Given the description of an element on the screen output the (x, y) to click on. 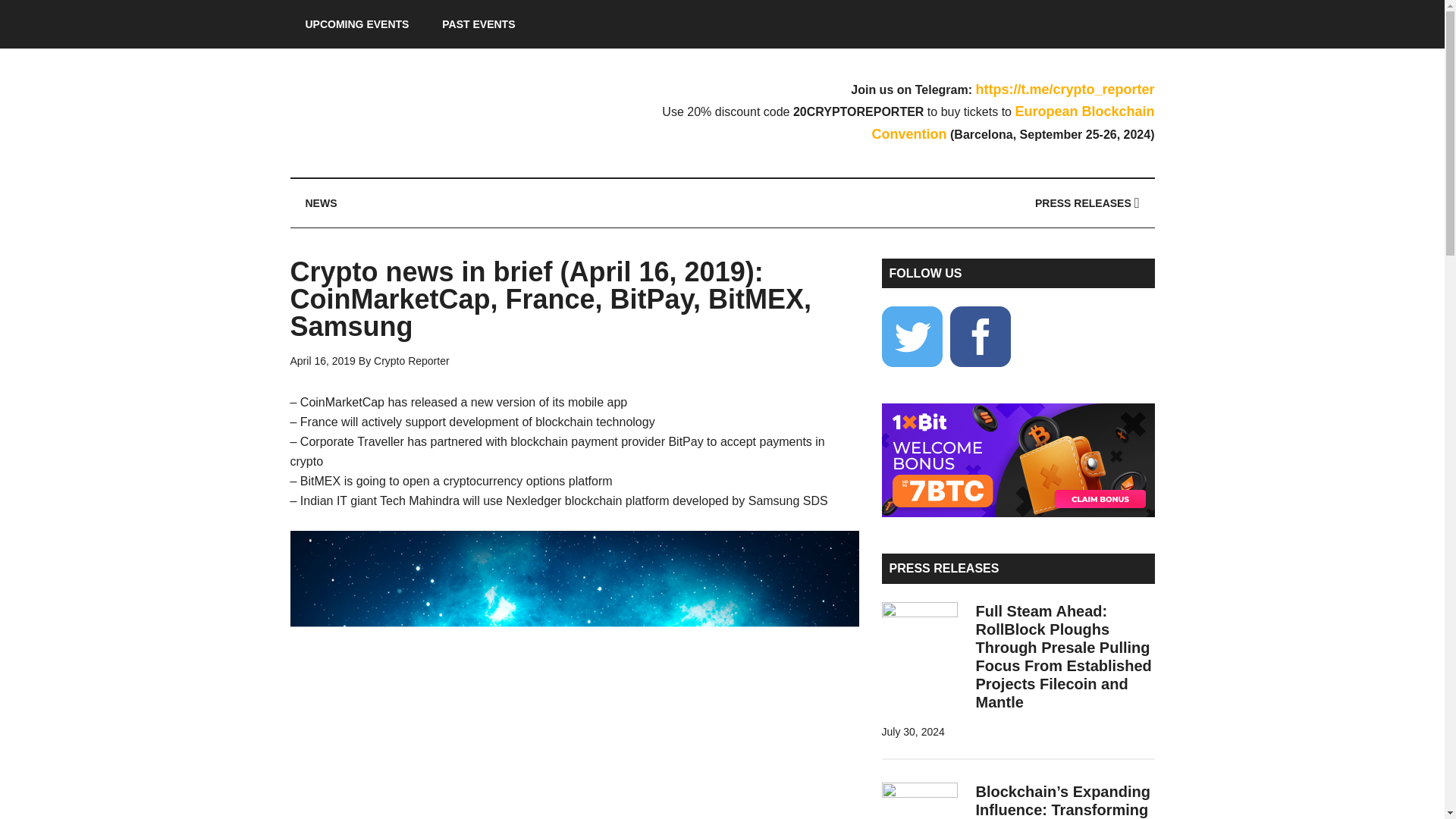
NEWS (320, 203)
European Blockchain Convention (1013, 122)
PAST EVENTS (477, 24)
UPCOMING EVENTS (356, 24)
Crypto Reporter (433, 112)
